Given the description of an element on the screen output the (x, y) to click on. 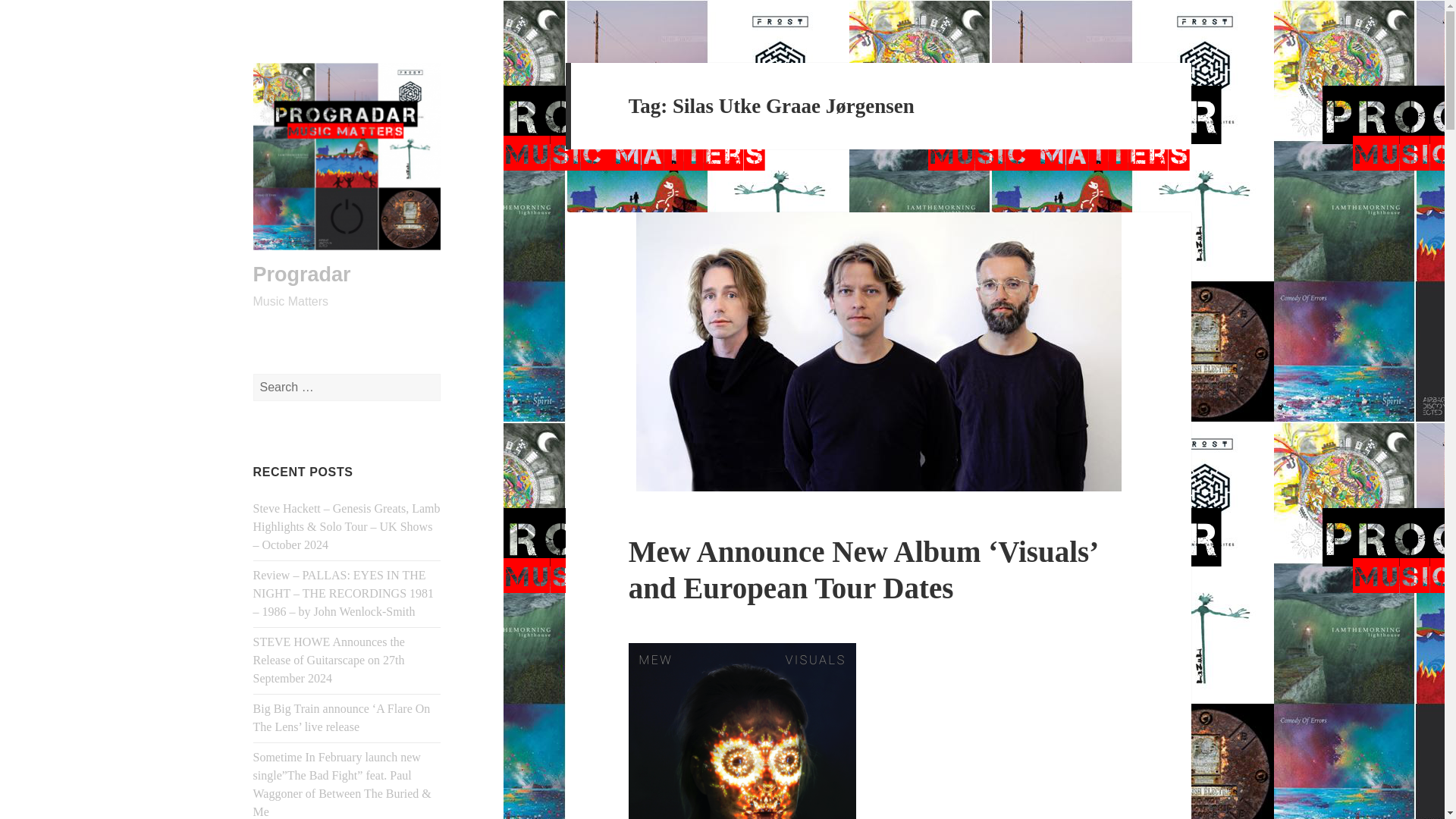
Progradar (301, 273)
